Given the description of an element on the screen output the (x, y) to click on. 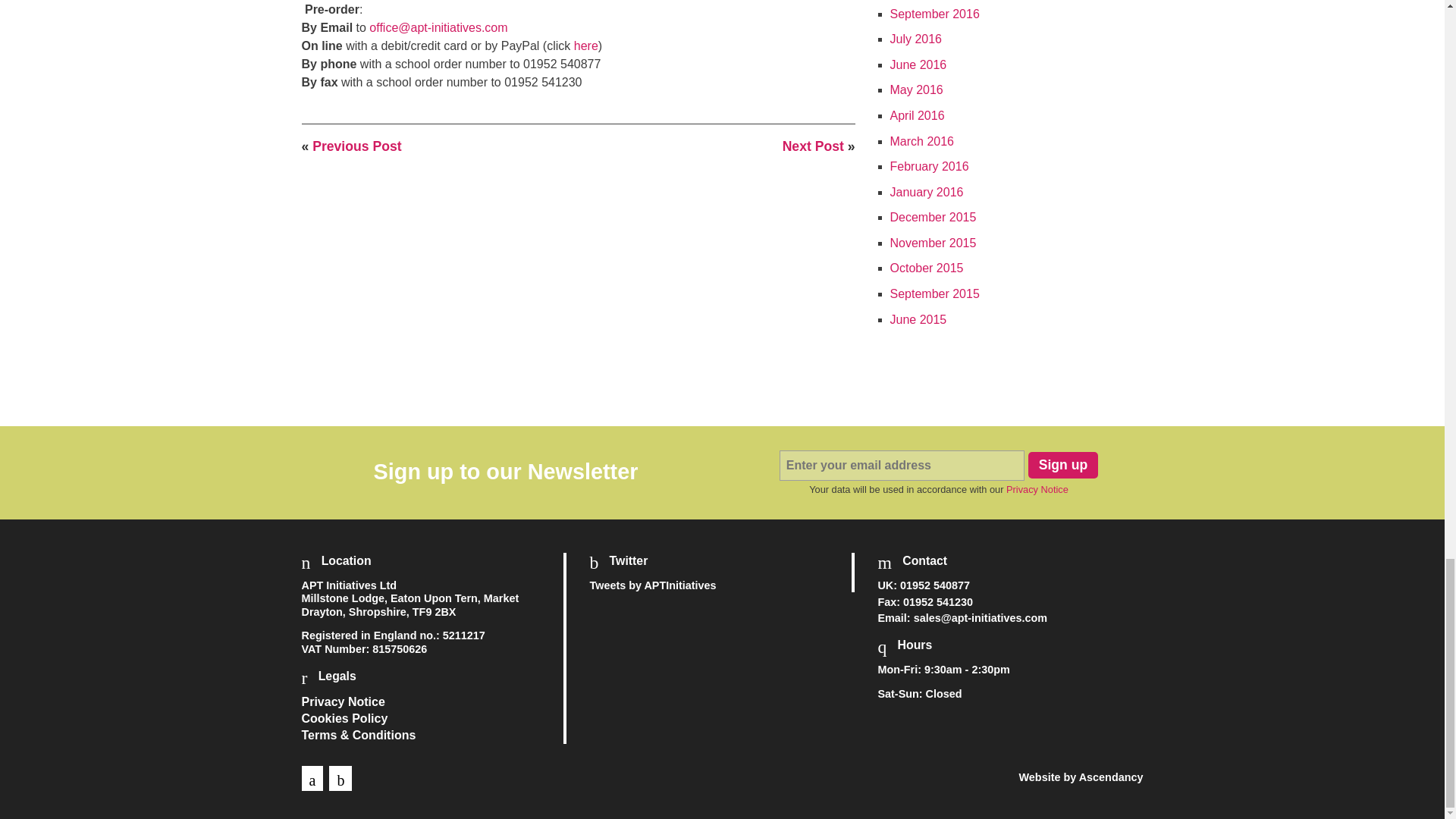
Ascendancy (1110, 776)
Email (980, 617)
Sign up (1063, 465)
Call (934, 585)
Twitter (340, 778)
